Given the description of an element on the screen output the (x, y) to click on. 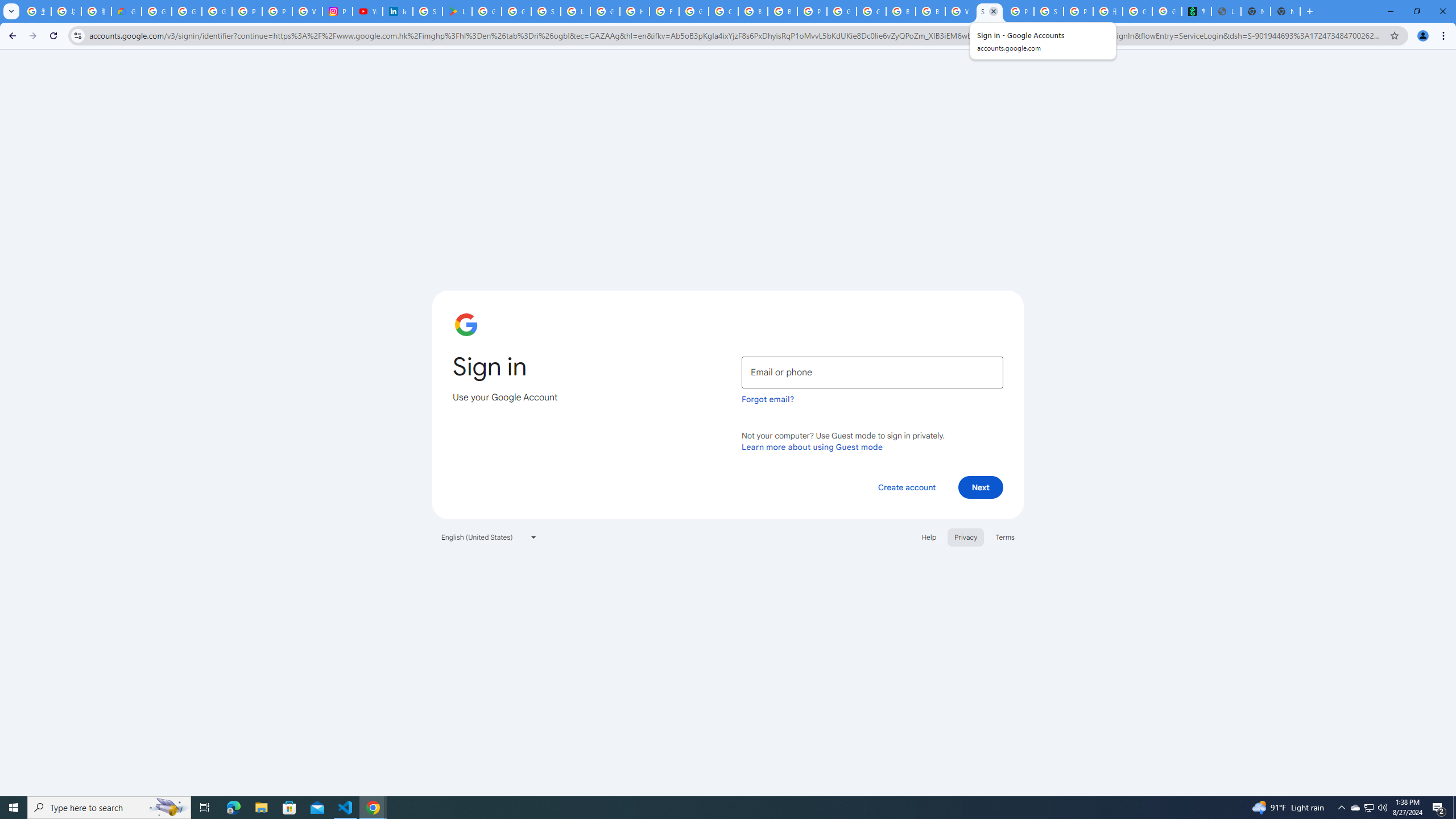
Last Shelter: Survival - Apps on Google Play (456, 11)
English (United States) (489, 536)
Google Cloud Platform (841, 11)
